Given the description of an element on the screen output the (x, y) to click on. 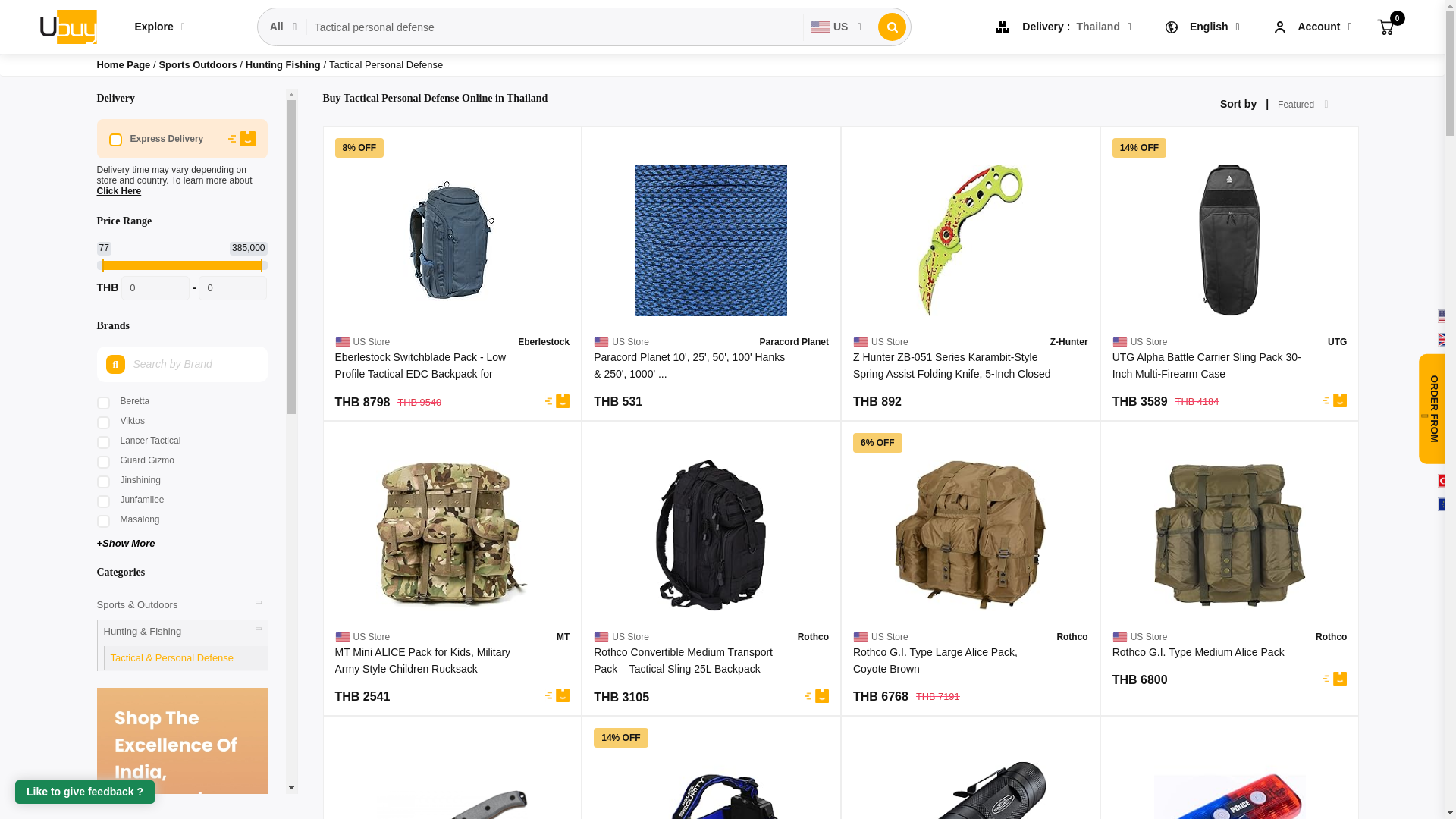
0 (1385, 26)
All (283, 26)
Home Page (124, 64)
Cart (1385, 26)
US (836, 26)
Home Page (124, 64)
0 (232, 288)
Tactical personal defense (555, 26)
0 (154, 288)
Tactical personal defense (555, 26)
Ubuy (67, 26)
